Given the description of an element on the screen output the (x, y) to click on. 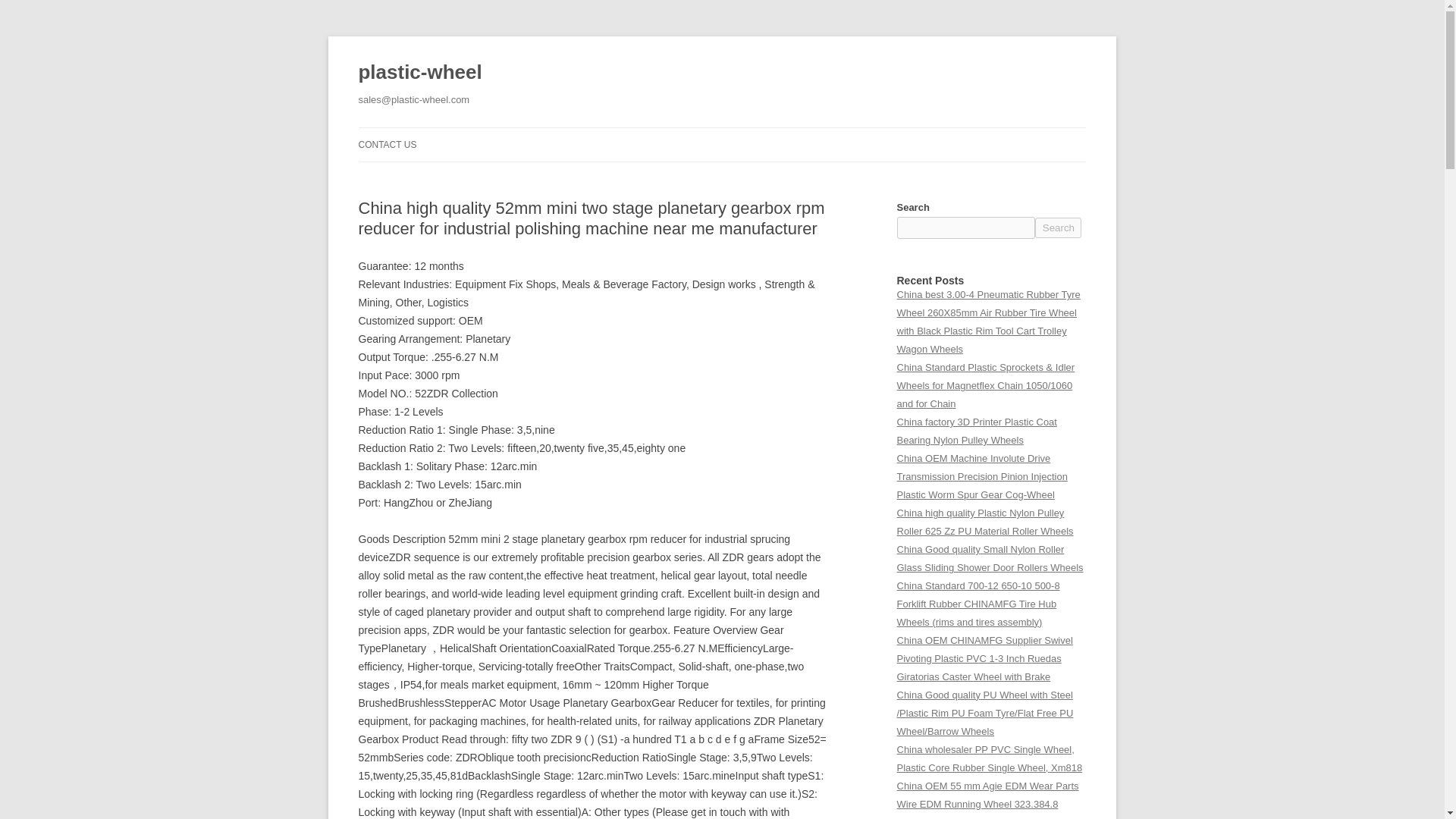
plastic-wheel (419, 72)
CONTACT US (387, 144)
Search (1058, 227)
